Given the description of an element on the screen output the (x, y) to click on. 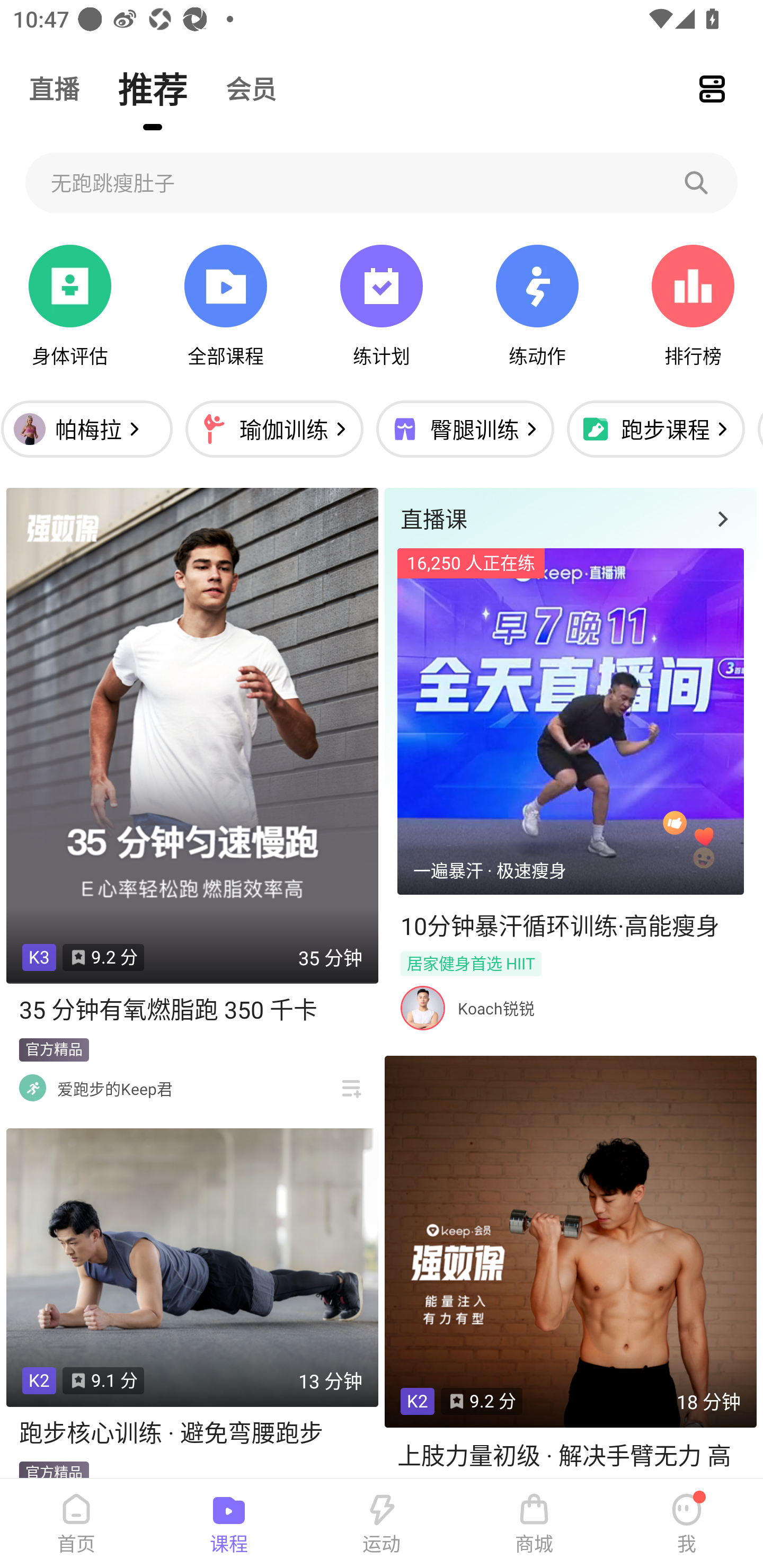
直播 (53, 88)
推荐 (152, 88)
会员 (251, 88)
无跑跳瘦肚子 (381, 182)
身体评估 (69, 306)
全部课程 (225, 306)
练计划 (381, 306)
练动作 (537, 306)
排行榜 (692, 306)
帕梅拉 更多 (90, 428)
瑜伽训练 更多 (274, 428)
臀腿训练 更多 (464, 428)
跑步课程 更多 (655, 428)
K3 9.2 分 35 分钟 35 分钟有氧燃脂跑 350 千卡 官方精品 爱跑步的Keep君 (192, 797)
直播课 (570, 517)
Koach锐锐 (495, 1008)
K2 9.2 分 18 分钟 上肢力量初级 · 解决手臂无力 高效塑形基石 (570, 1266)
爱跑步的Keep君 (114, 1088)
K2 9.1 分 13 分钟 跑步核心训练 · 避免弯腰跑步 官方精品 (192, 1303)
首页 (76, 1523)
课程 (228, 1523)
运动 (381, 1523)
商城 (533, 1523)
我 (686, 1523)
